Given the description of an element on the screen output the (x, y) to click on. 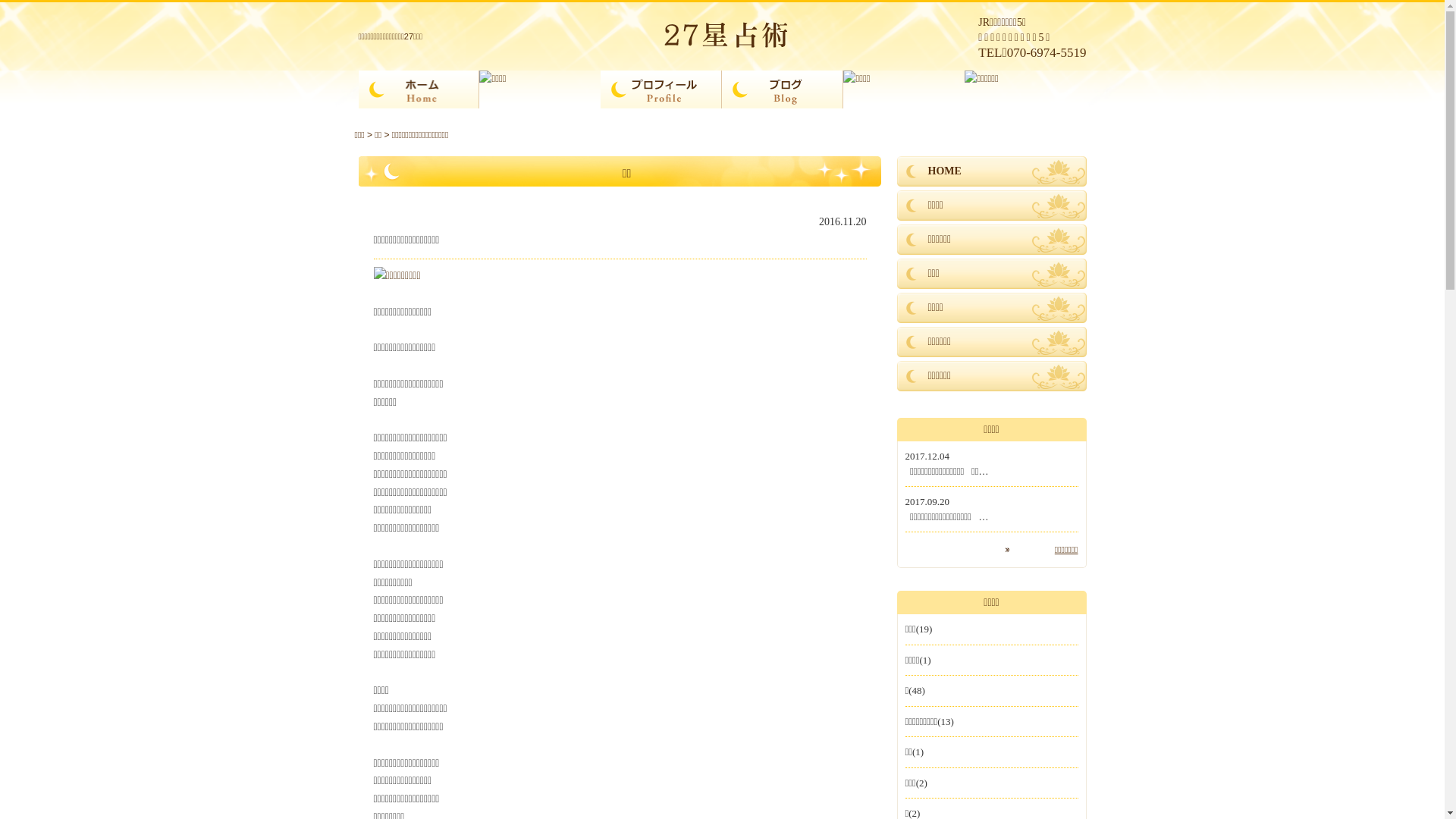
HOME Element type: text (990, 171)
